Given the description of an element on the screen output the (x, y) to click on. 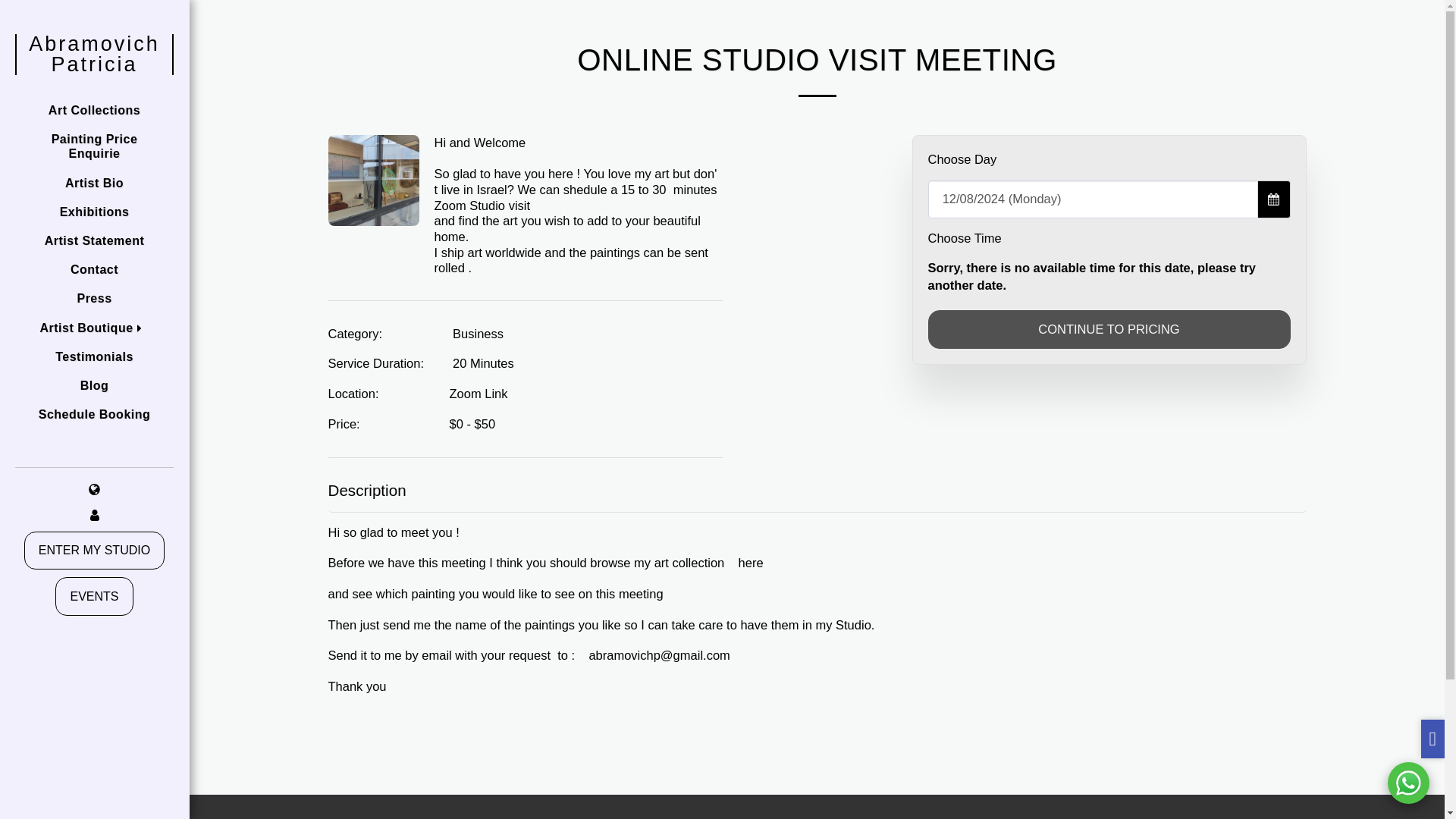
EVENTS (93, 596)
EVENTS (93, 596)
Art Collections (94, 110)
Exhibitions (94, 212)
Artist Bio (93, 182)
ENTER MY STUDIO (94, 550)
Testimonials (94, 357)
Painting Price Enquirie (93, 146)
Contact (94, 269)
